Given the description of an element on the screen output the (x, y) to click on. 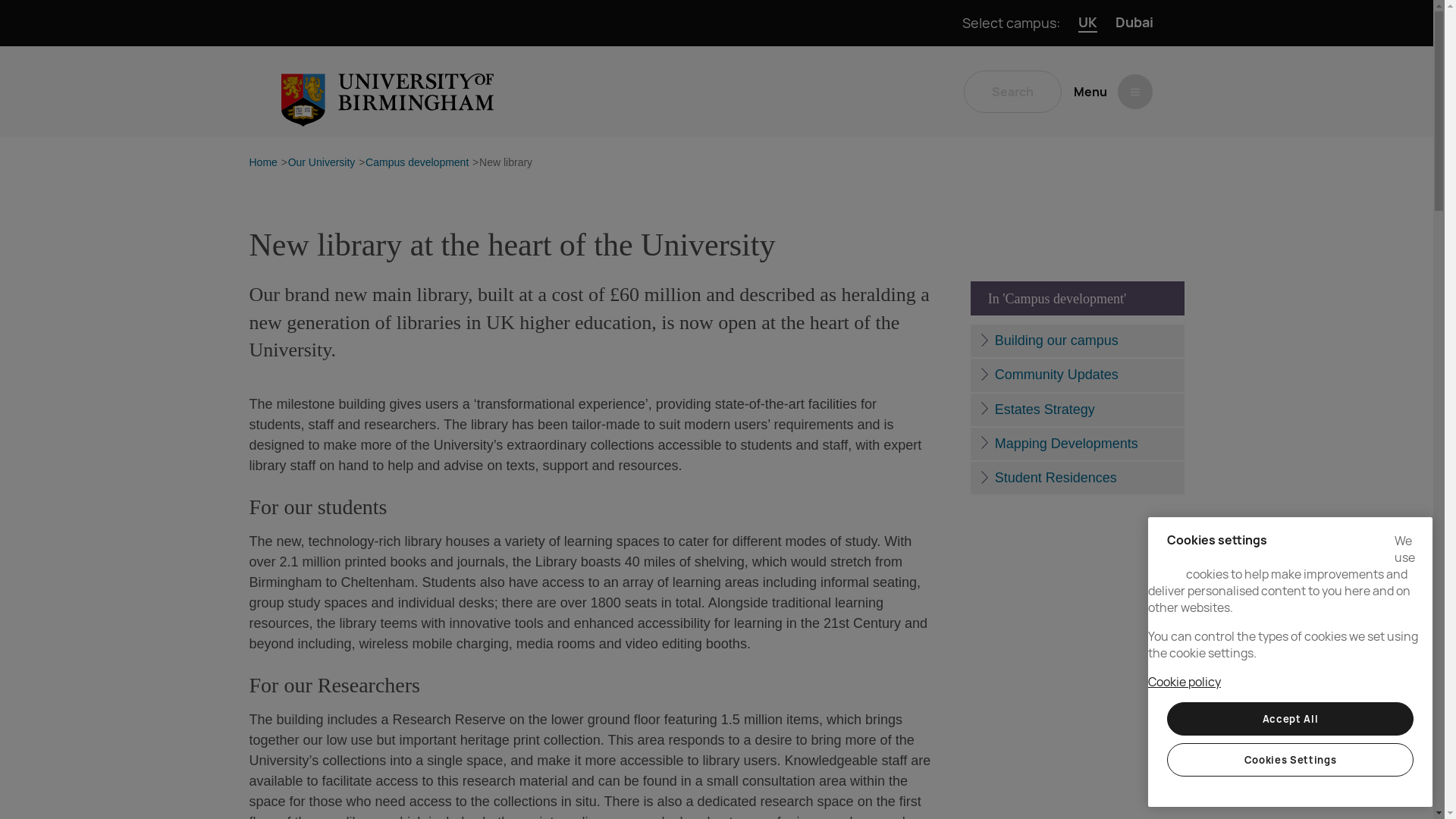
UK (1087, 23)
Community Updates (1077, 374)
Home (262, 163)
Campus development (416, 163)
Building our campus (1077, 340)
Our University (321, 163)
Mapping Developments (1077, 443)
Dubai (1134, 23)
Estates Strategy (1077, 409)
Search (1012, 91)
New library (505, 163)
Student Residences (1077, 477)
